Given the description of an element on the screen output the (x, y) to click on. 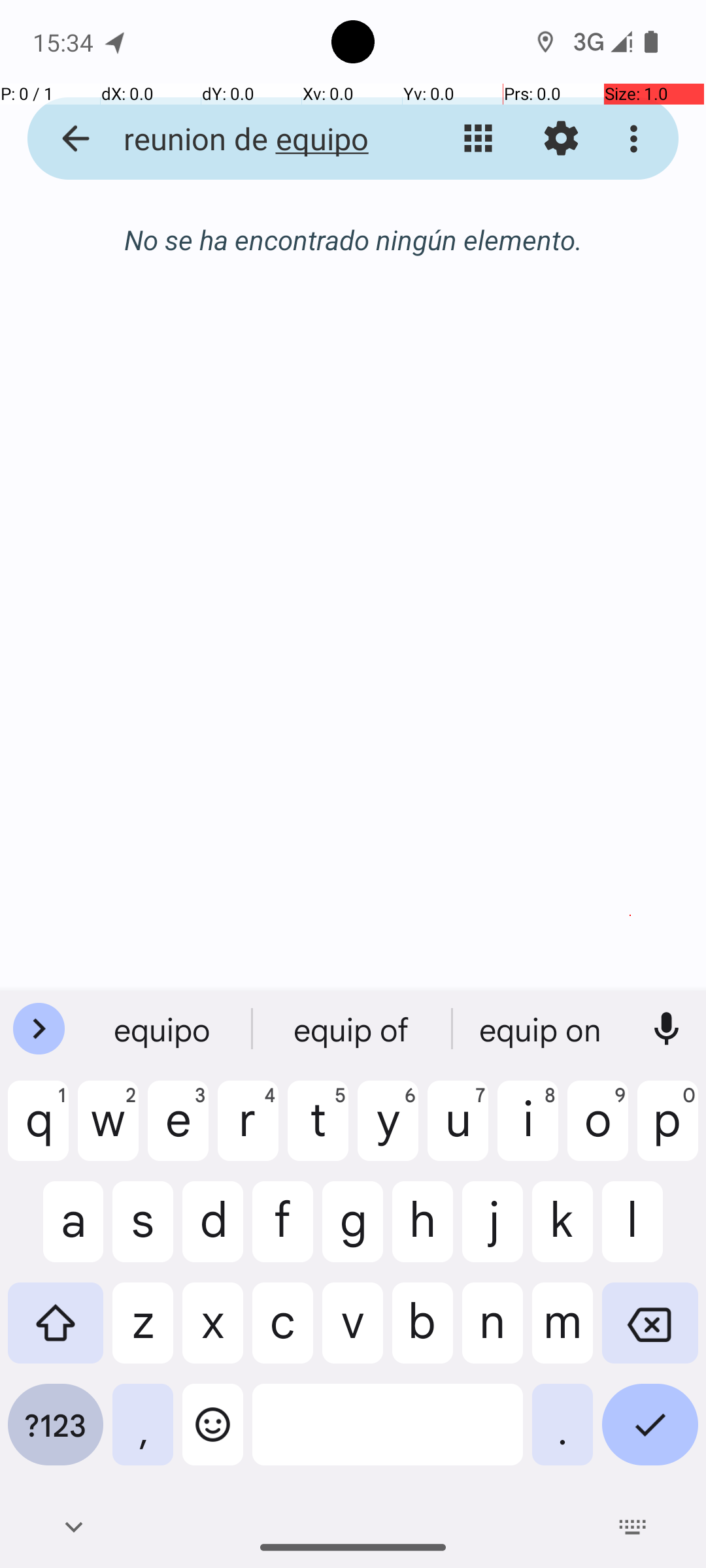
reunion de equipo Element type: android.widget.EditText (252, 138)
equip Element type: android.widget.FrameLayout (163, 1028)
equipo Element type: android.widget.FrameLayout (352, 1028)
equipment Element type: android.widget.FrameLayout (541, 1028)
